Given the description of an element on the screen output the (x, y) to click on. 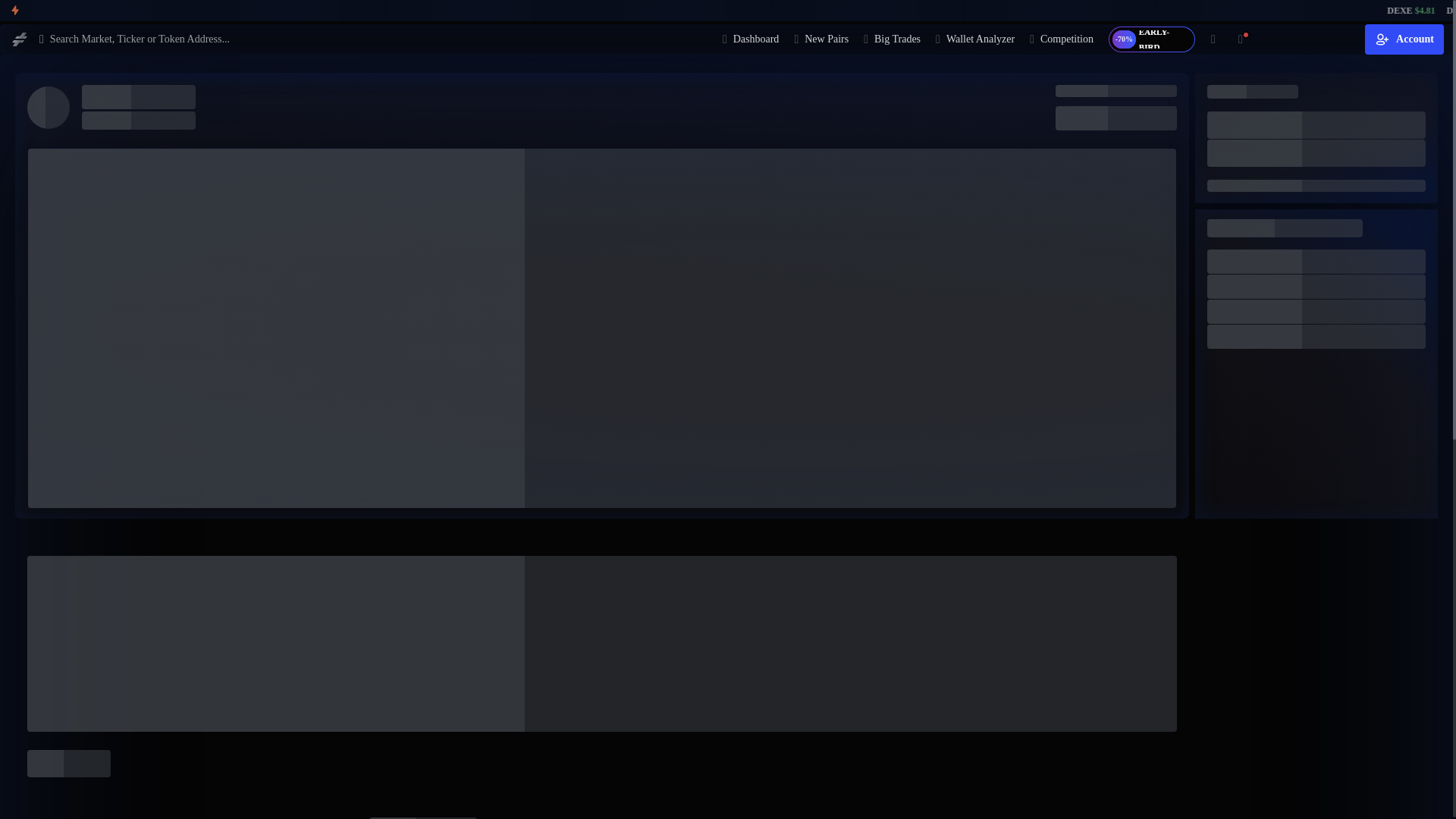
Wallet Analyzer (975, 38)
Big Trades (891, 38)
Dashboard (750, 38)
New Pairs (820, 38)
